Given the description of an element on the screen output the (x, y) to click on. 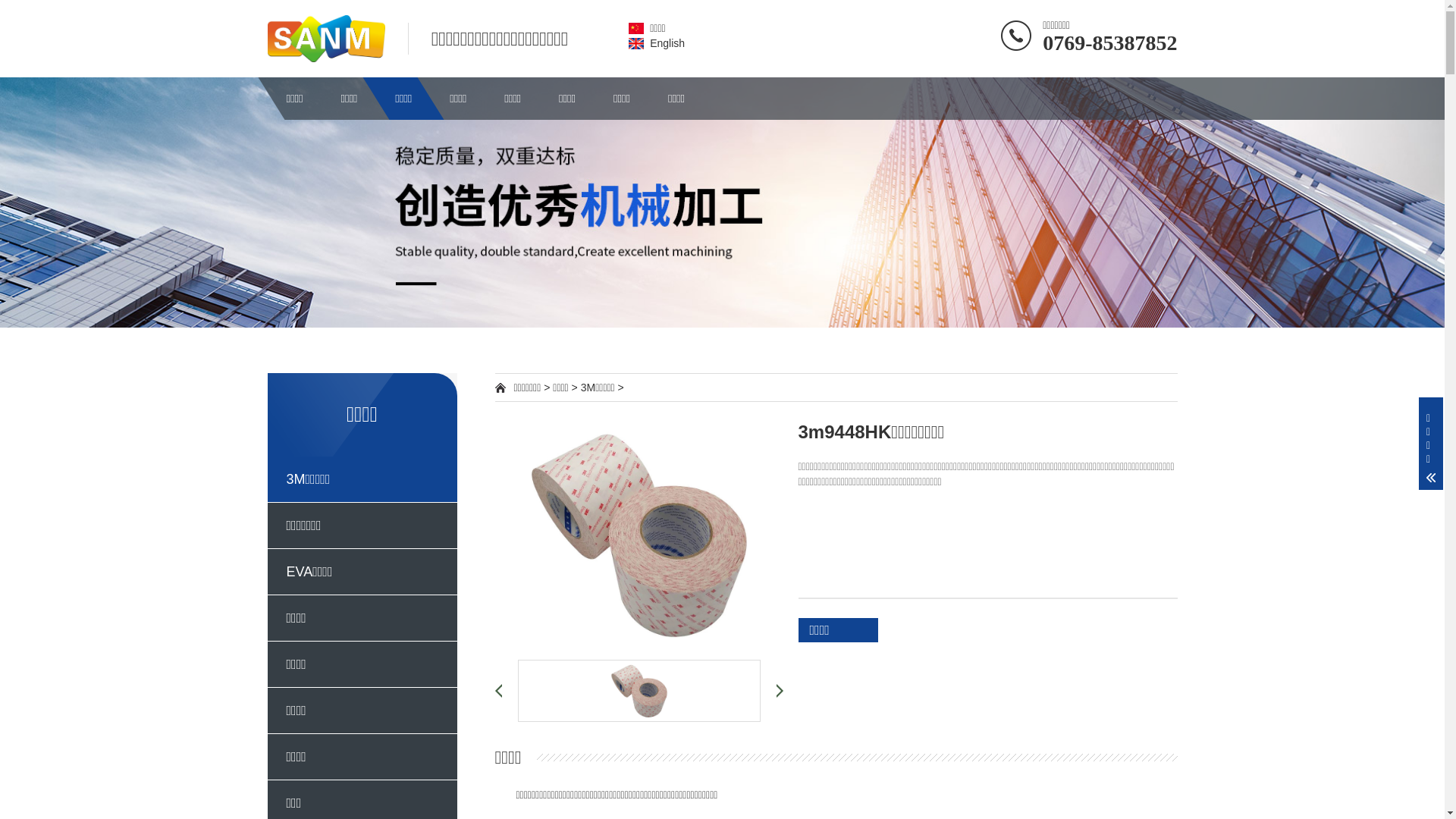
English Element type: text (656, 43)
